Given the description of an element on the screen output the (x, y) to click on. 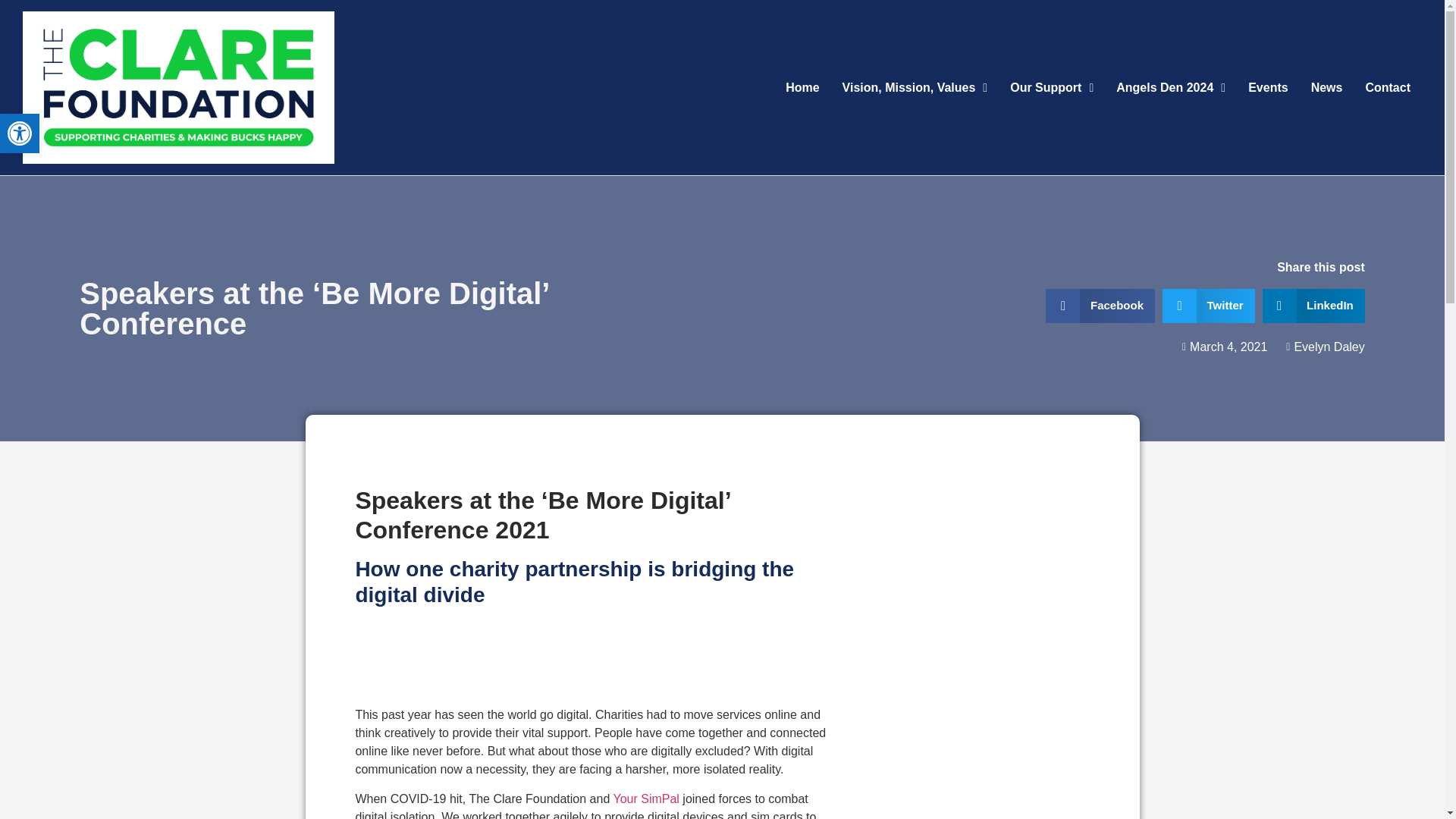
News (1327, 87)
Accessibility Tools (19, 133)
Home (801, 87)
Contact (1388, 87)
